Given the description of an element on the screen output the (x, y) to click on. 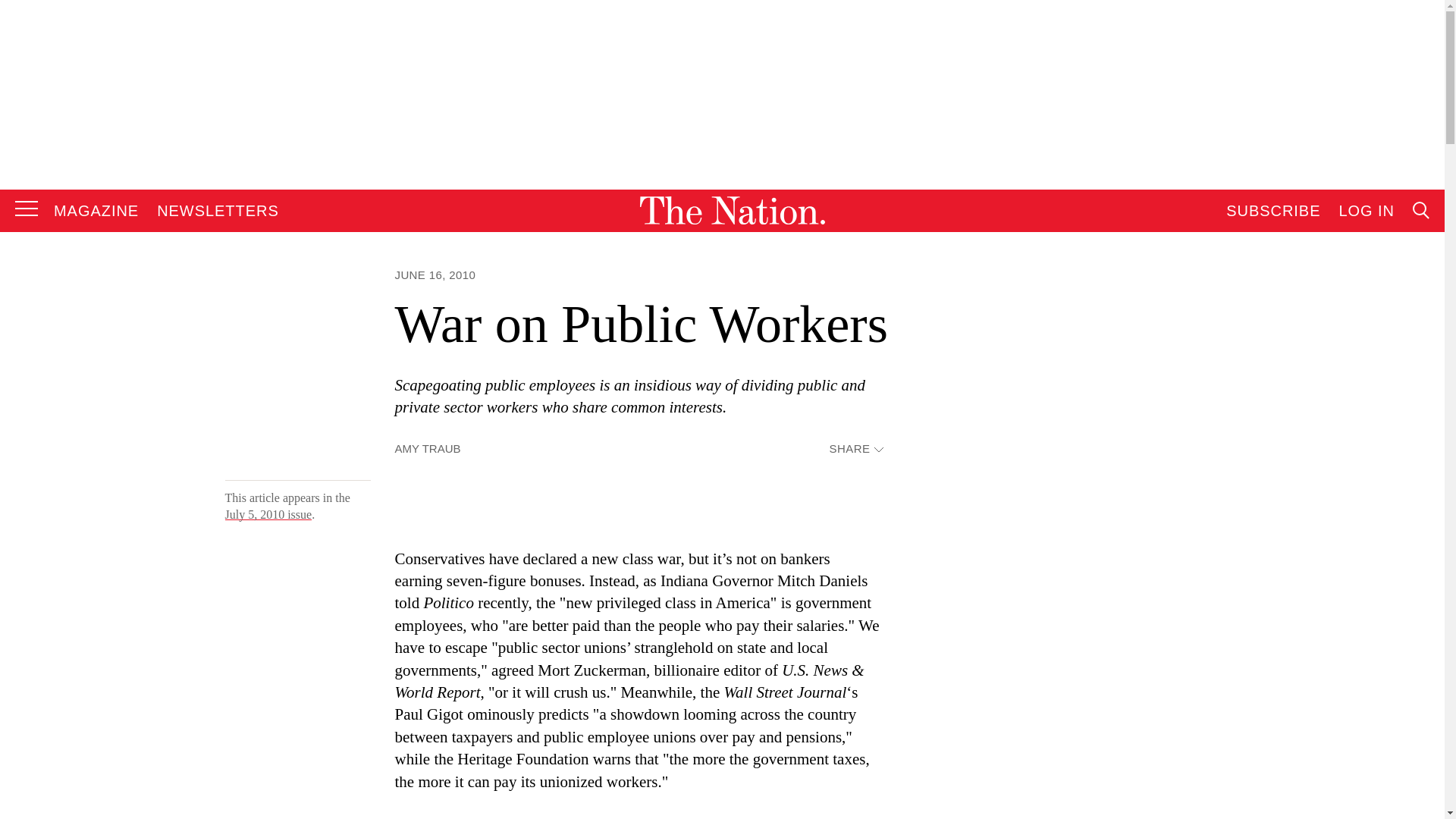
MAGAZINE (95, 210)
NEWSLETTERS (218, 210)
AMY TRAUB (427, 448)
Search (1278, 364)
SUBSCRIBE (1272, 210)
SHARE (855, 449)
LOG IN (1366, 210)
July 5, 2010 issue (267, 513)
